Given the description of an element on the screen output the (x, y) to click on. 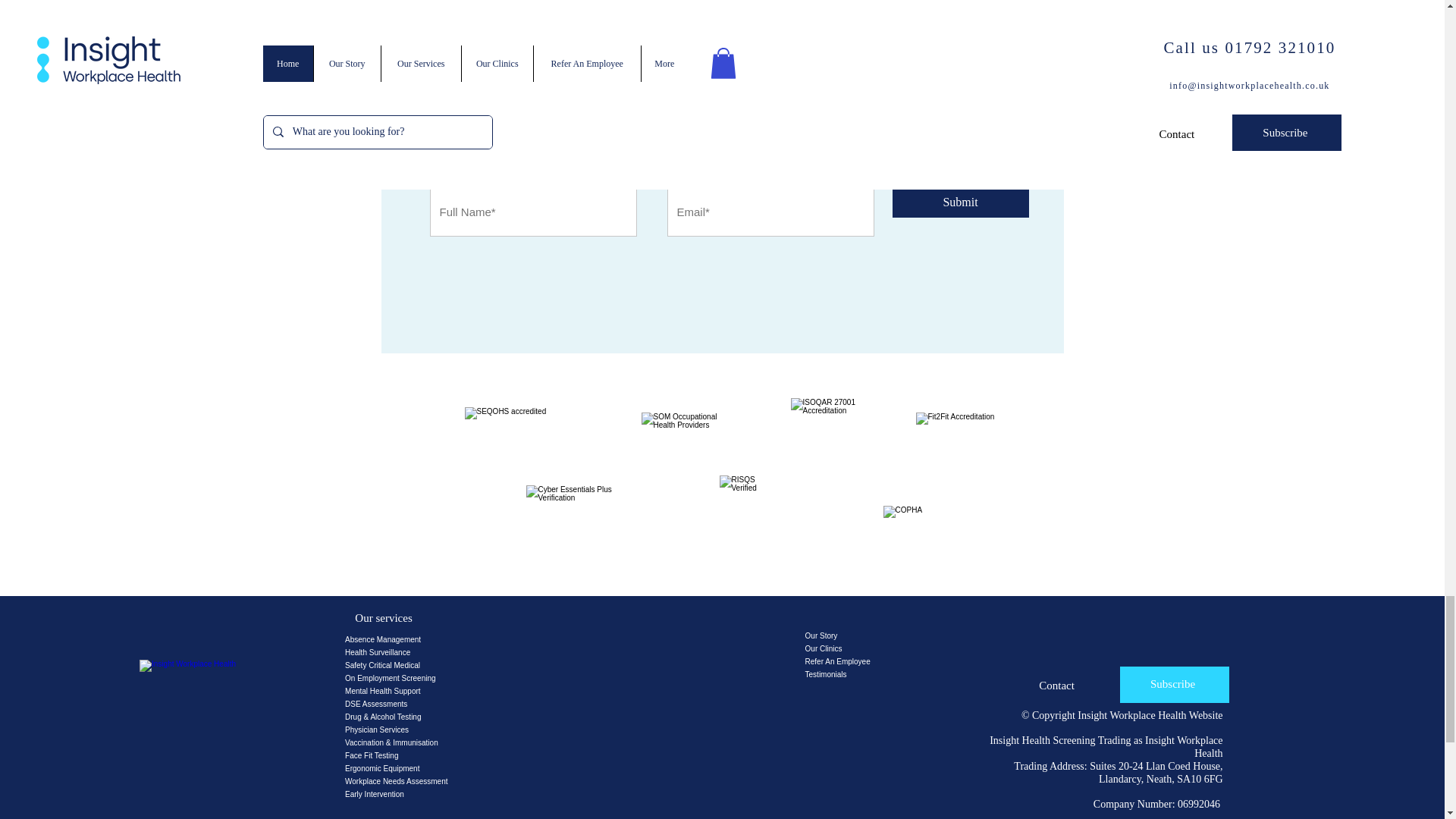
cyber-essentials-plus-badge-high-res.png (568, 520)
cyber-essentials-plus-badge-high-res.png (833, 436)
